Given the description of an element on the screen output the (x, y) to click on. 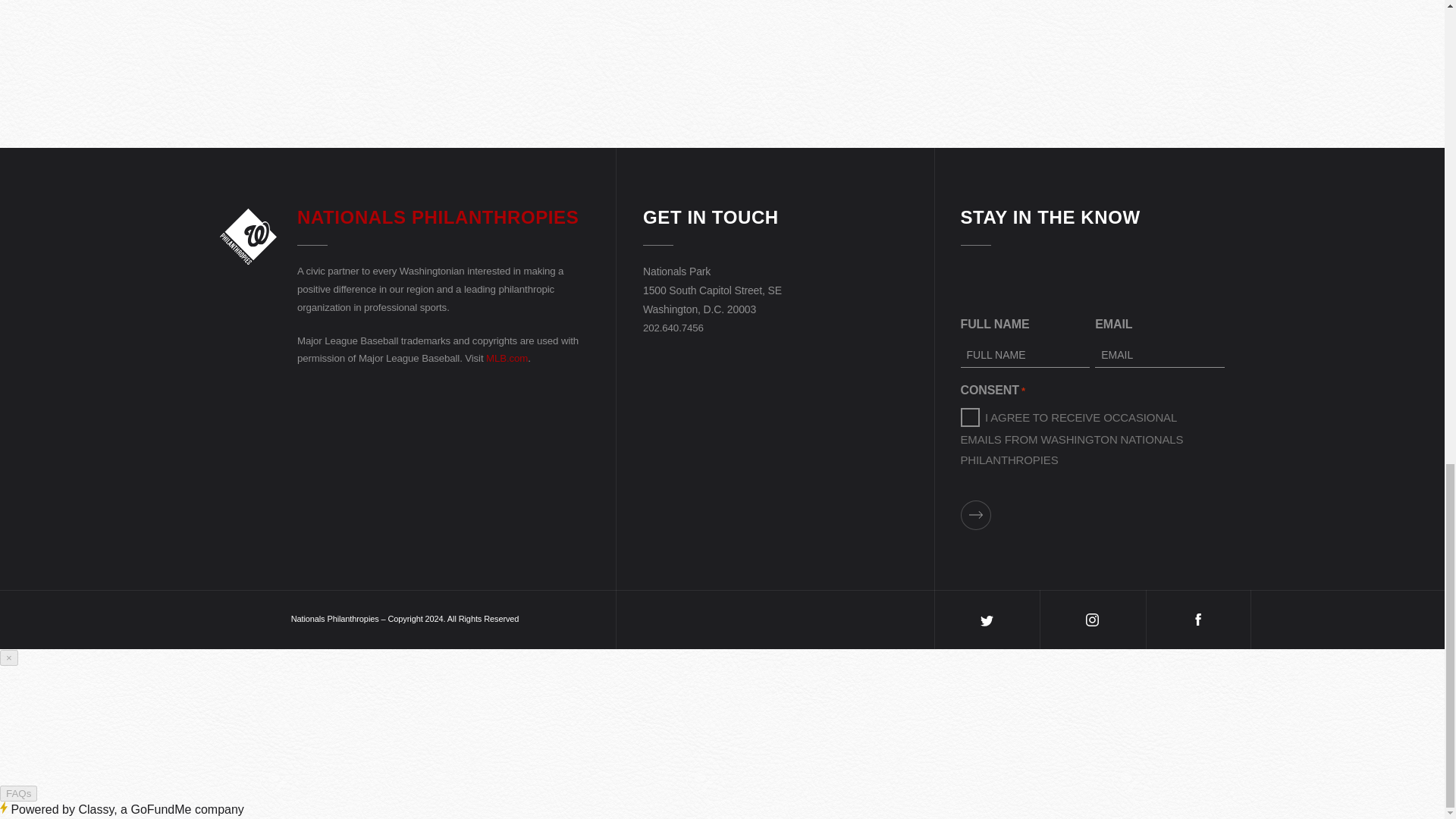
NATIONALS PHILANTHROPIES (437, 217)
Send Form (974, 514)
